Given the description of an element on the screen output the (x, y) to click on. 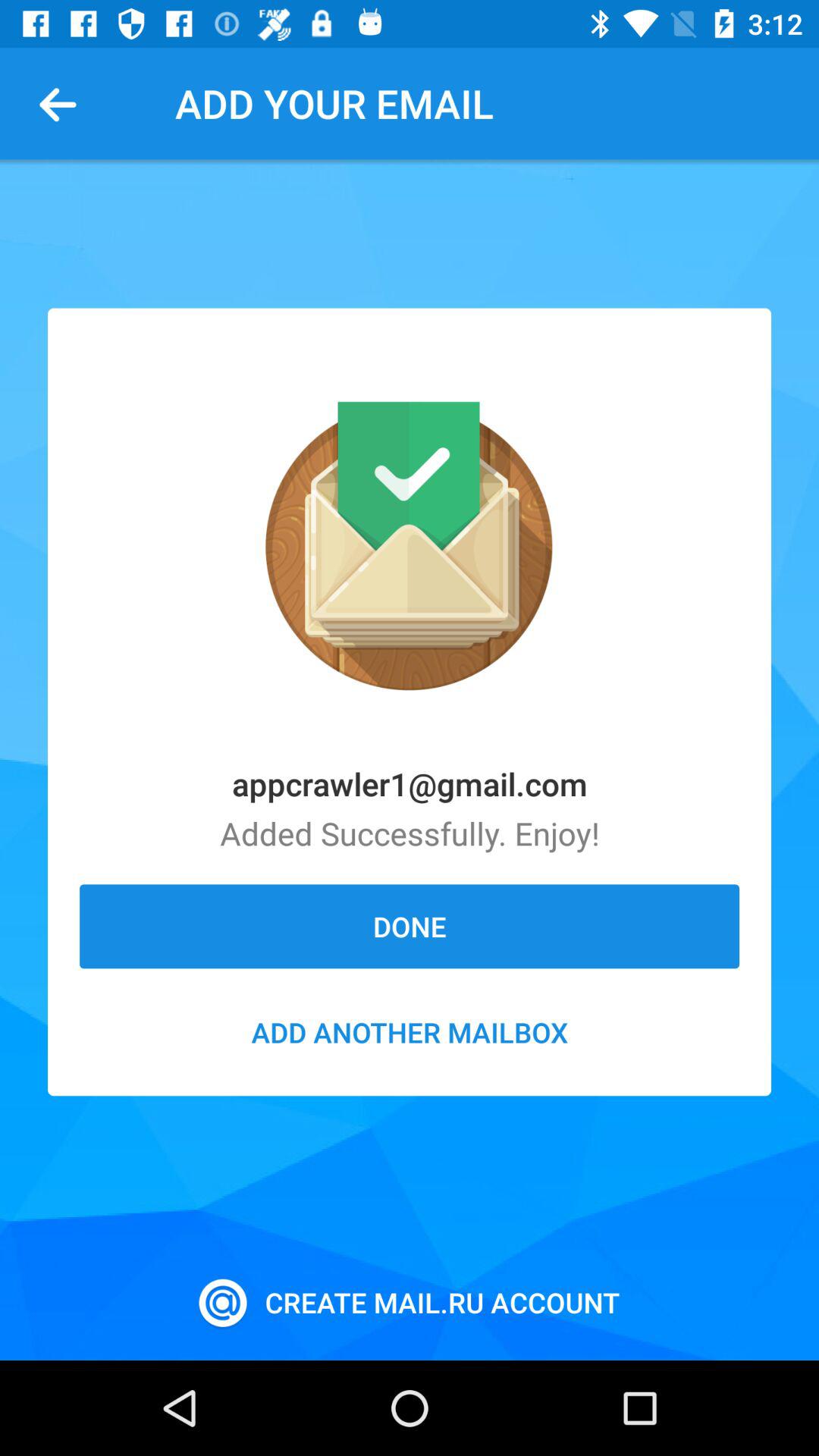
select the icon below the done (409, 1032)
